Given the description of an element on the screen output the (x, y) to click on. 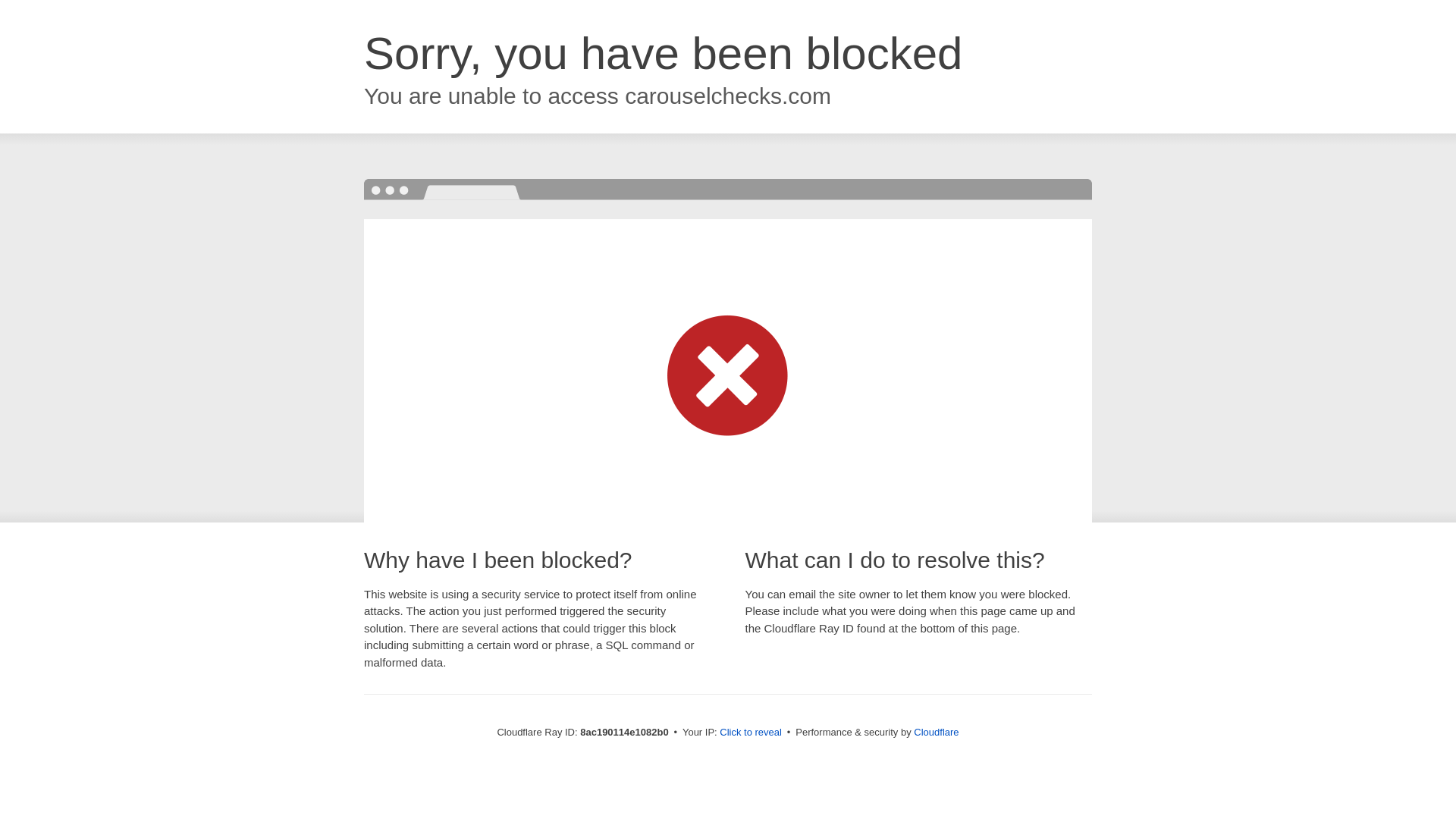
Click to reveal (750, 732)
Cloudflare (936, 731)
